Given the description of an element on the screen output the (x, y) to click on. 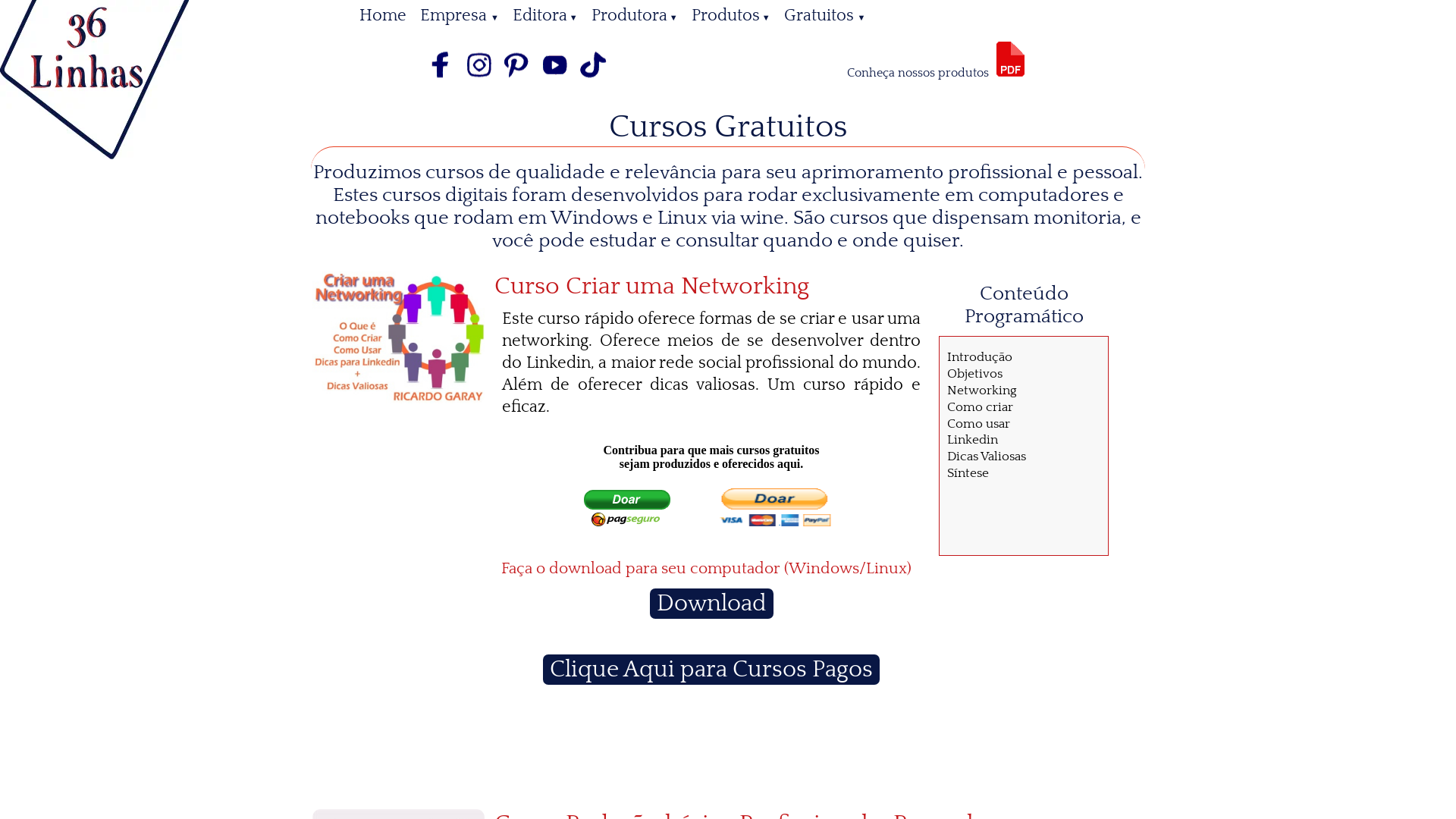
Produtos Element type: text (730, 15)
Siga-nos Instagram Element type: hover (479, 80)
Download Element type: text (710, 603)
Clique Aqui para Cursos Pagos Element type: text (710, 669)
curso criar networking Element type: hover (397, 337)
Home Element type: text (382, 15)
Siga-nos Tiktok Element type: hover (592, 80)
Siga-nos Facebook Element type: hover (441, 80)
Assine nosso canal no YouTube Element type: hover (555, 80)
Siga-nos Pinterest Element type: hover (517, 80)
Gratuitos Element type: text (824, 15)
Produtora Element type: text (634, 15)
Apoie Element type: hover (711, 492)
Editora Element type: text (544, 15)
Empresa Element type: text (459, 15)
